Given the description of an element on the screen output the (x, y) to click on. 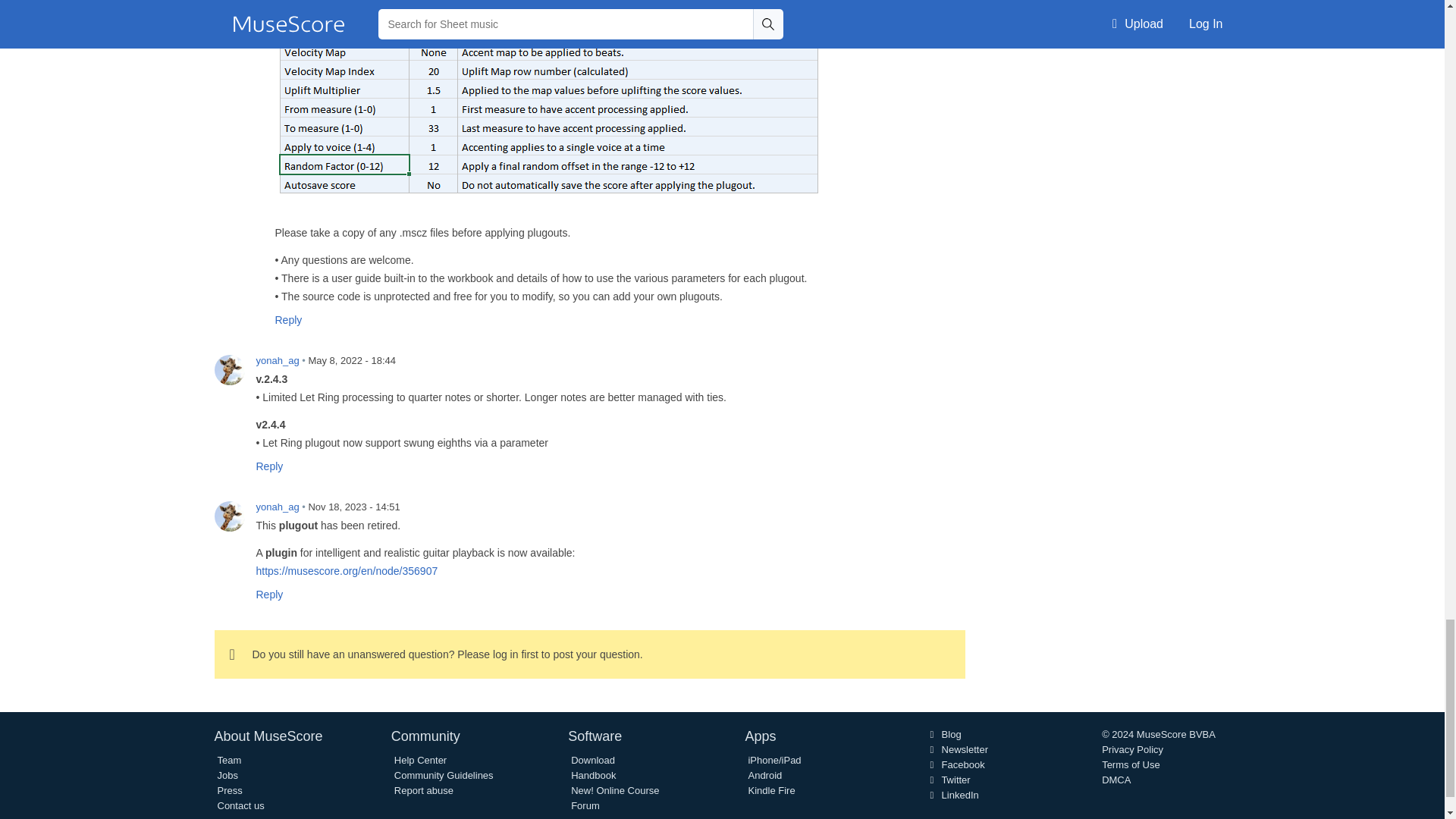
RandomAccent.png (548, 99)
